Given the description of an element on the screen output the (x, y) to click on. 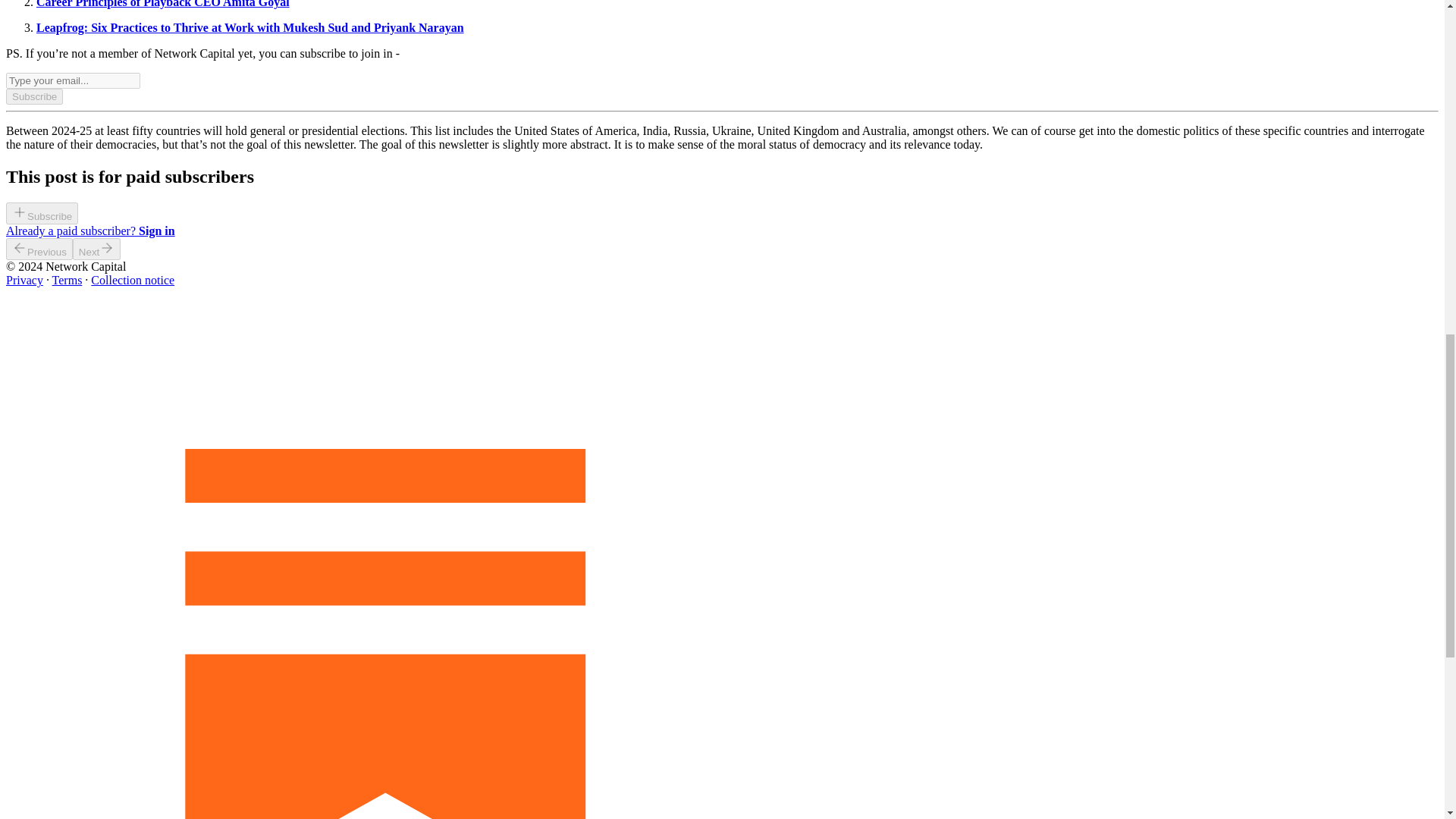
Privacy (24, 279)
Subscribe (41, 215)
Career Principles of Playback CEO Amita Goyal (162, 4)
Subscribe (33, 96)
Already a paid subscriber? Sign in (89, 230)
Next (96, 249)
Terms (67, 279)
Collection notice (132, 279)
Previous (38, 249)
